Given the description of an element on the screen output the (x, y) to click on. 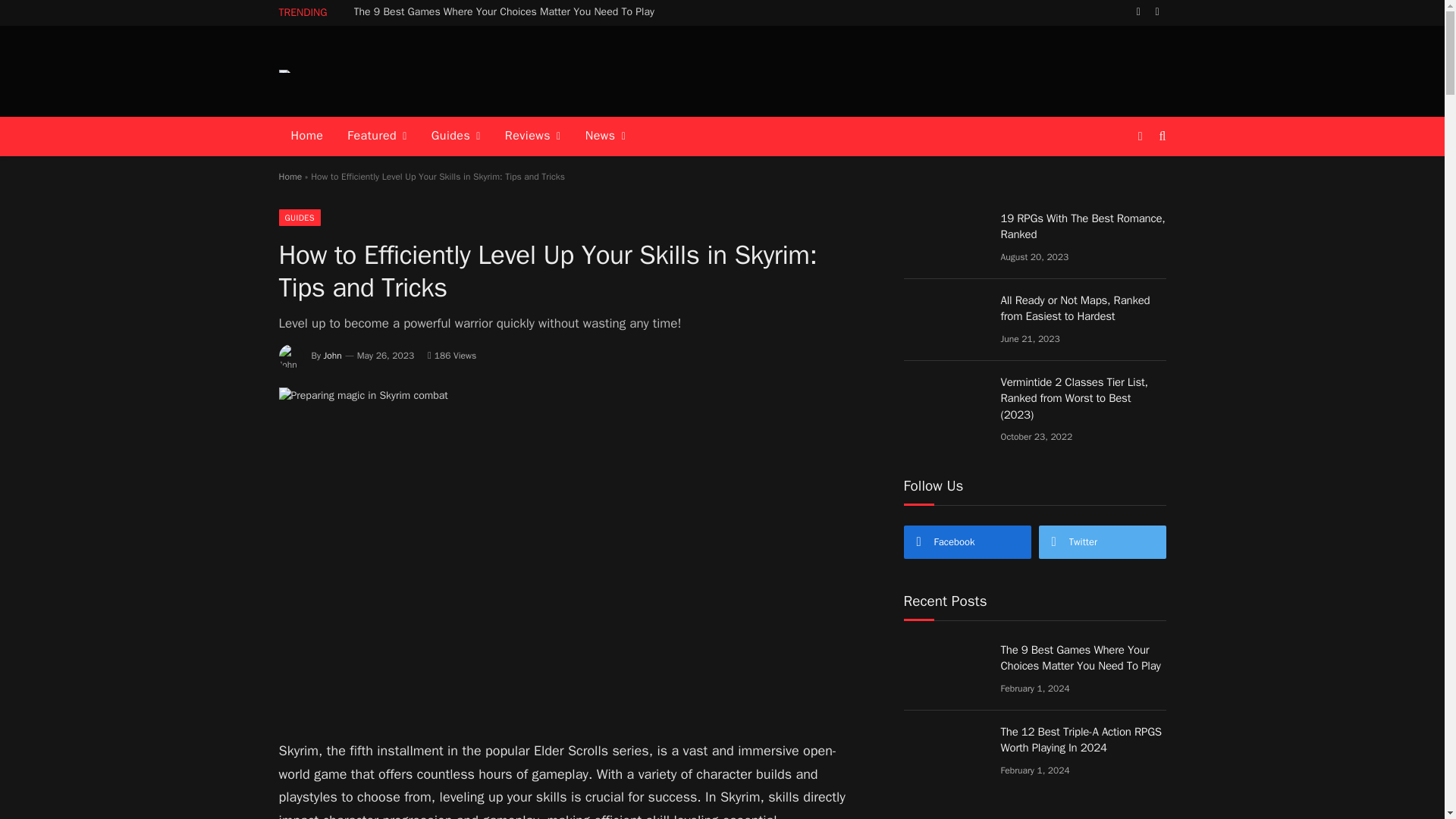
Home (307, 136)
Reviews (533, 136)
The 9 Best Games Where Your Choices Matter You Need To Play (507, 11)
Guides (456, 136)
Featured (376, 136)
